Given the description of an element on the screen output the (x, y) to click on. 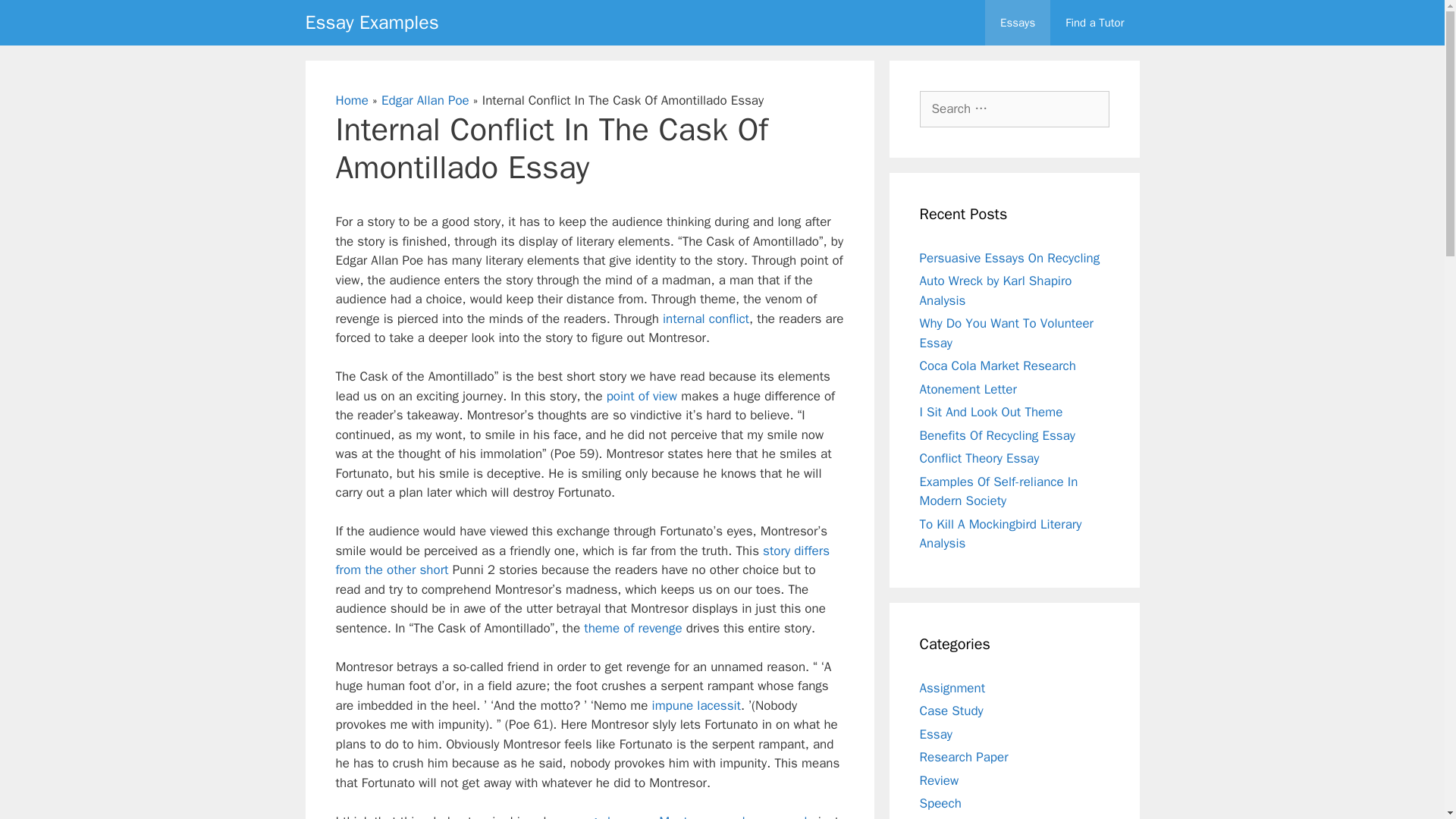
Essay Examples (371, 22)
Find a Tutor (1093, 22)
story differs from the other short (581, 560)
Essays (1017, 22)
Search for: (1013, 108)
internal conflict (705, 318)
point of view (642, 396)
Edgar Allan Poe (424, 100)
theme of revenge (632, 627)
impune lacessit (696, 705)
revenge because Montresor made up a cask (684, 816)
Home (351, 100)
